Given the description of an element on the screen output the (x, y) to click on. 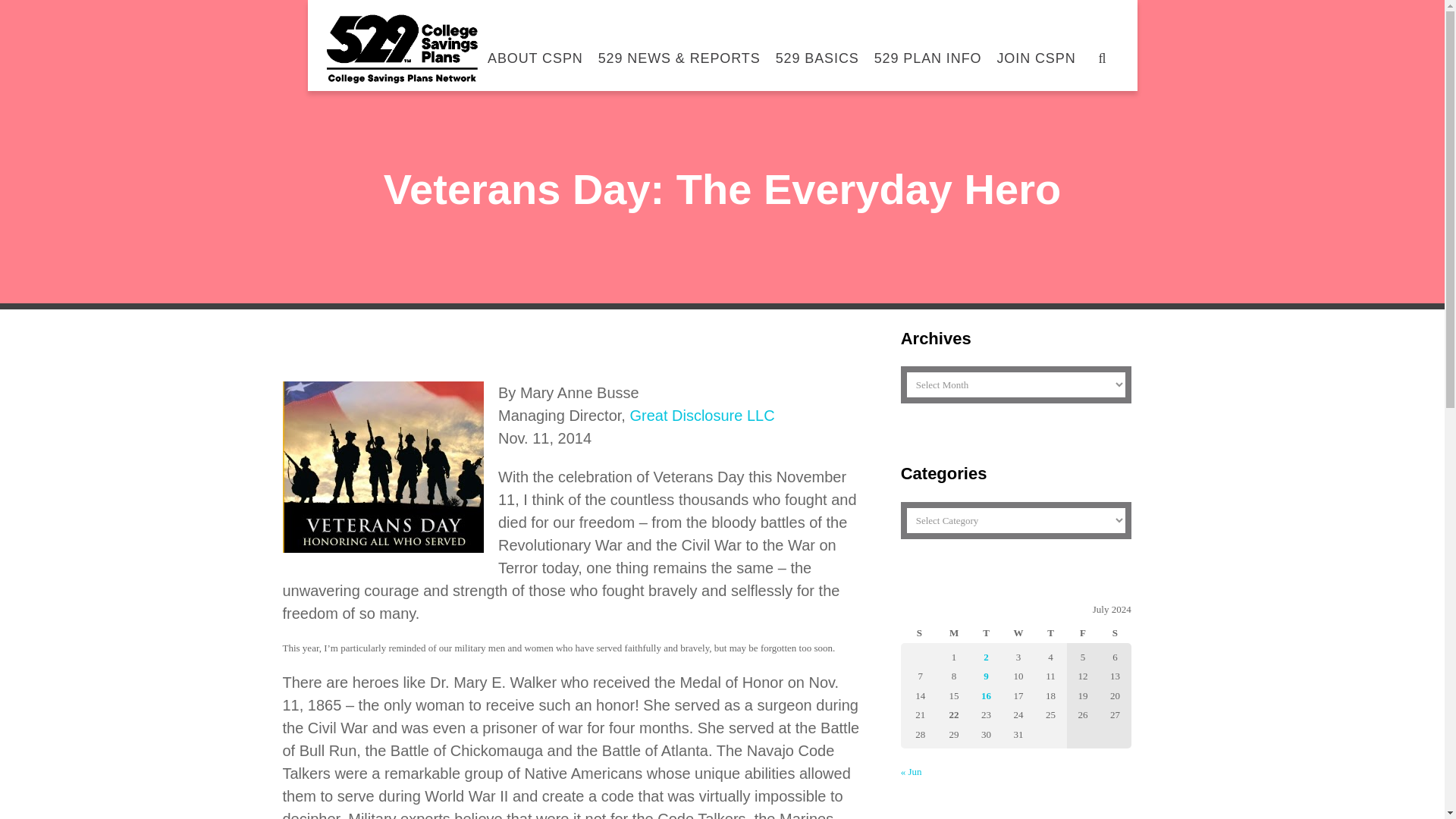
Thursday (1049, 631)
Search (1051, 152)
ABOUT CSPN (535, 50)
529 BASICS (817, 50)
Tuesday (985, 631)
JOIN CSPN (1035, 50)
Sunday (919, 631)
Monday (953, 631)
Friday (1083, 631)
Home (887, 300)
529 PLAN INFO (928, 50)
Wednesday (1018, 631)
Go back to the homepage (401, 48)
Saturday (1115, 631)
